Given the description of an element on the screen output the (x, y) to click on. 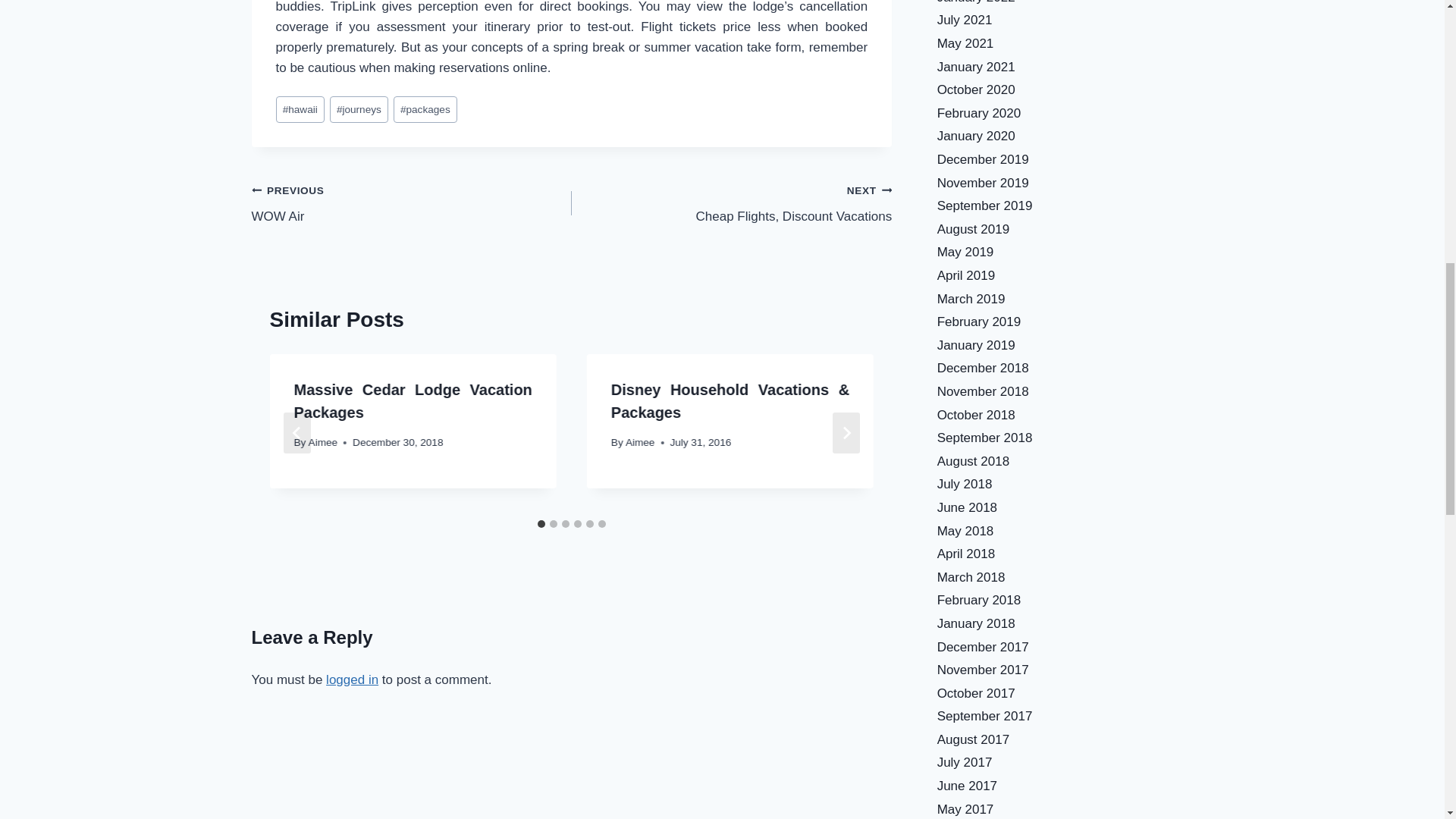
packages (425, 109)
hawaii (300, 109)
journeys (359, 109)
